Given the description of an element on the screen output the (x, y) to click on. 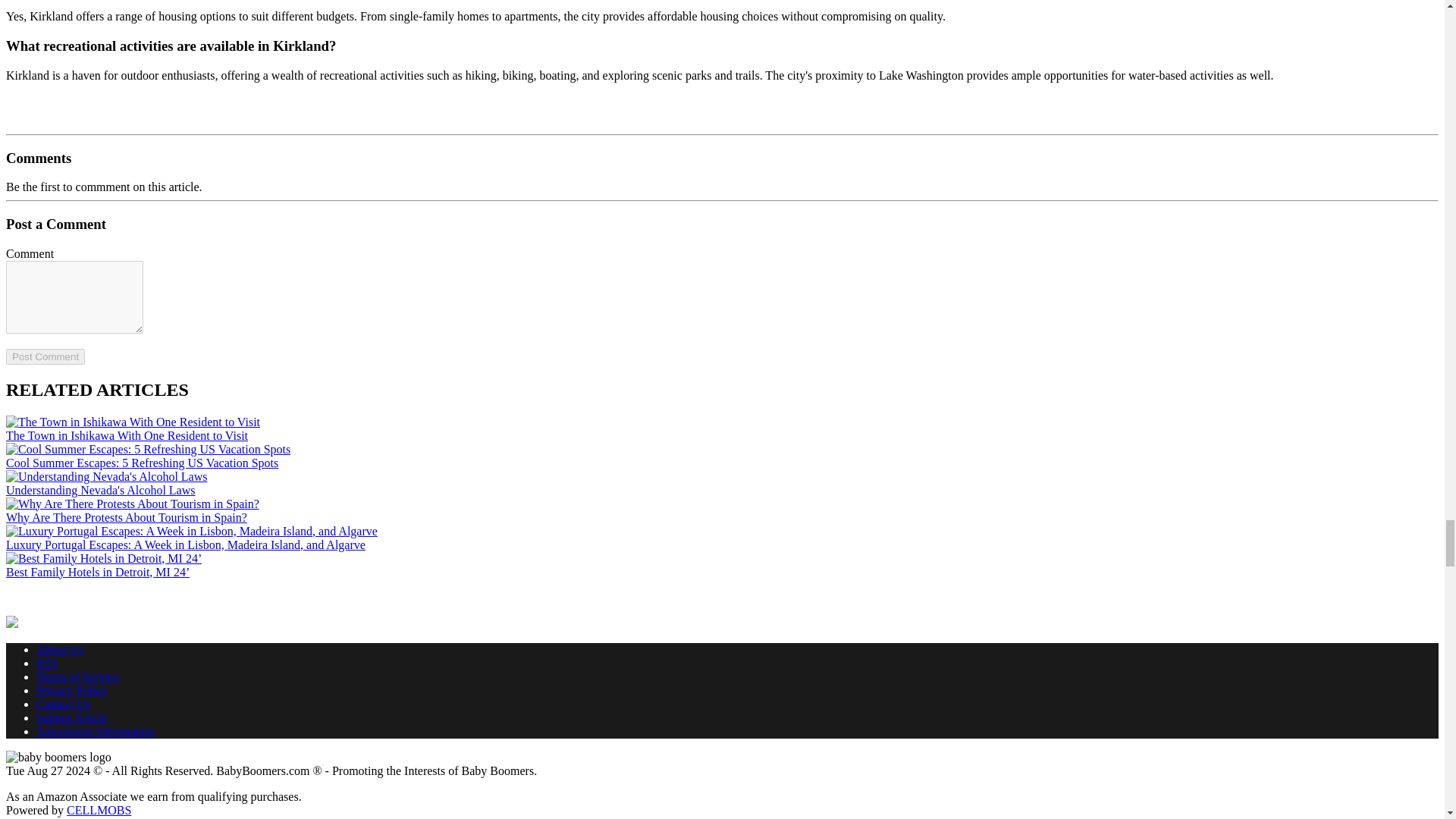
Terms of Service (77, 676)
Post Comment (44, 356)
About Us (59, 649)
RSS (47, 662)
